Given the description of an element on the screen output the (x, y) to click on. 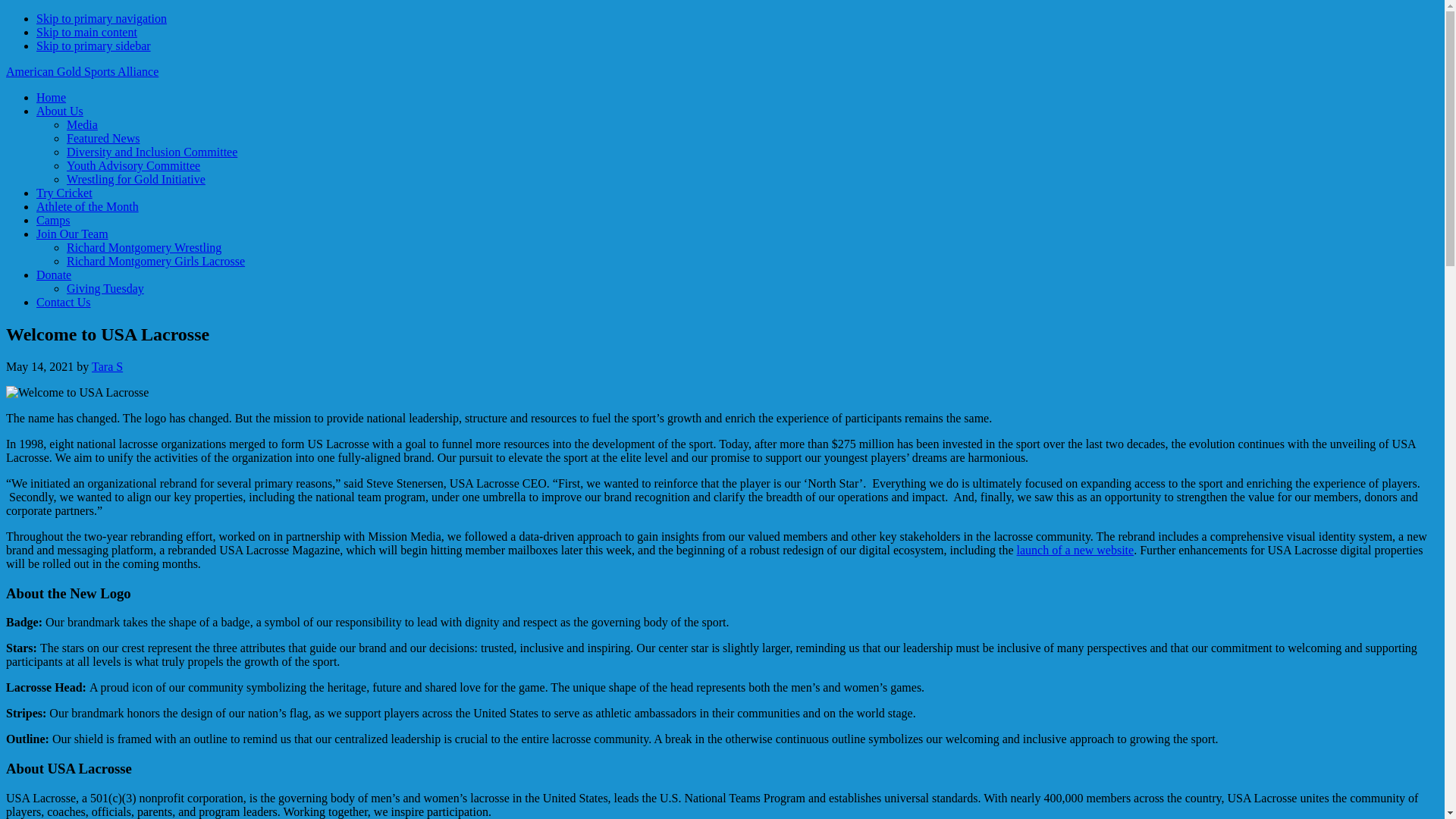
Skip to main content (86, 31)
Donate (53, 274)
Media (81, 124)
Wrestling for Gold Initiative (135, 178)
launch of a new website (1075, 549)
Contact Us (63, 301)
Giving Tuesday (105, 287)
Try Cricket (64, 192)
Skip to primary sidebar (93, 45)
Join Our Team (71, 233)
Tara S (106, 366)
Diversity and Inclusion Committee (151, 151)
Richard Montgomery Girls Lacrosse (155, 260)
Home (50, 97)
Richard Montgomery Wrestling (143, 246)
